Given the description of an element on the screen output the (x, y) to click on. 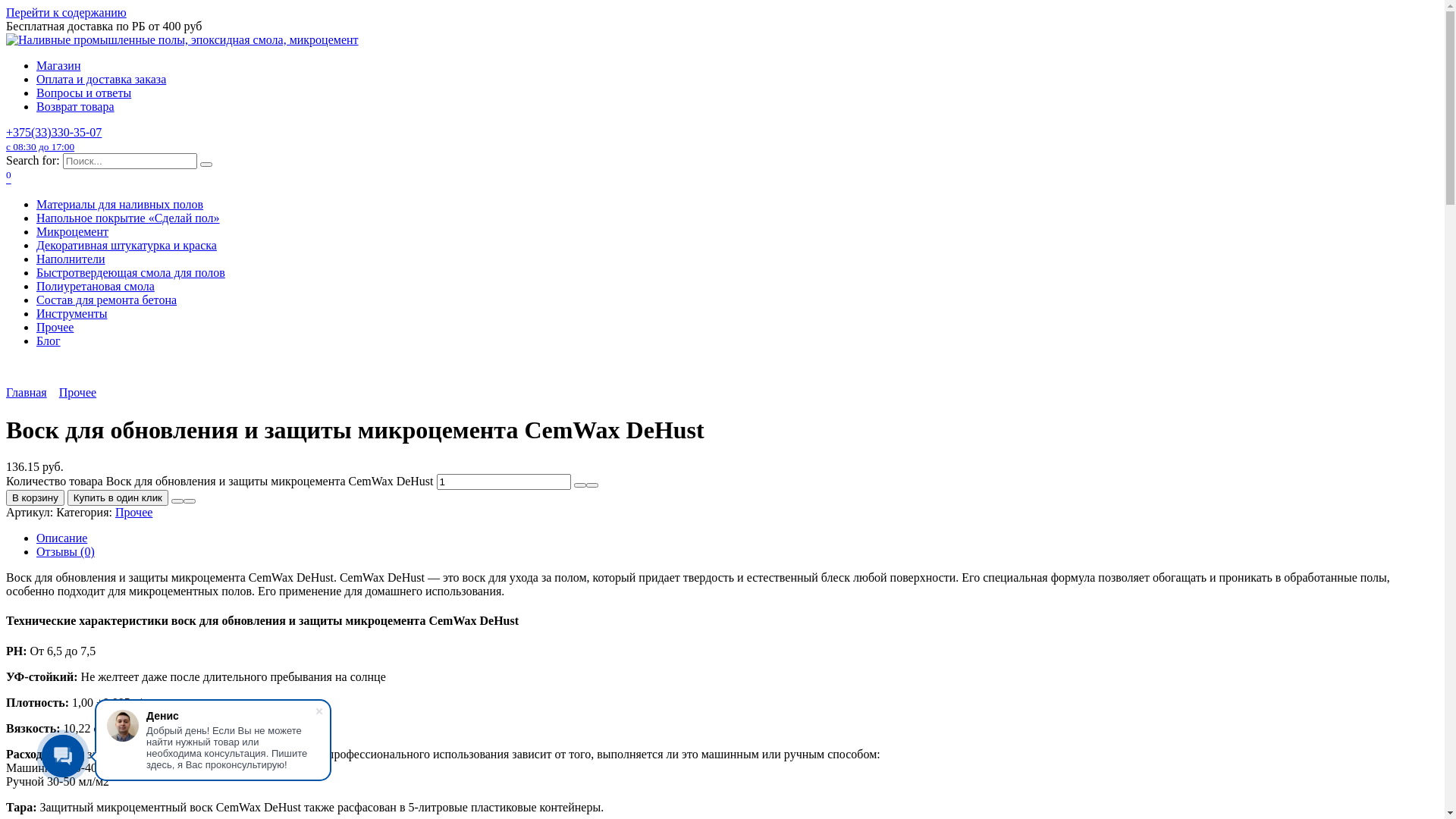
0 Element type: text (8, 178)
